Given the description of an element on the screen output the (x, y) to click on. 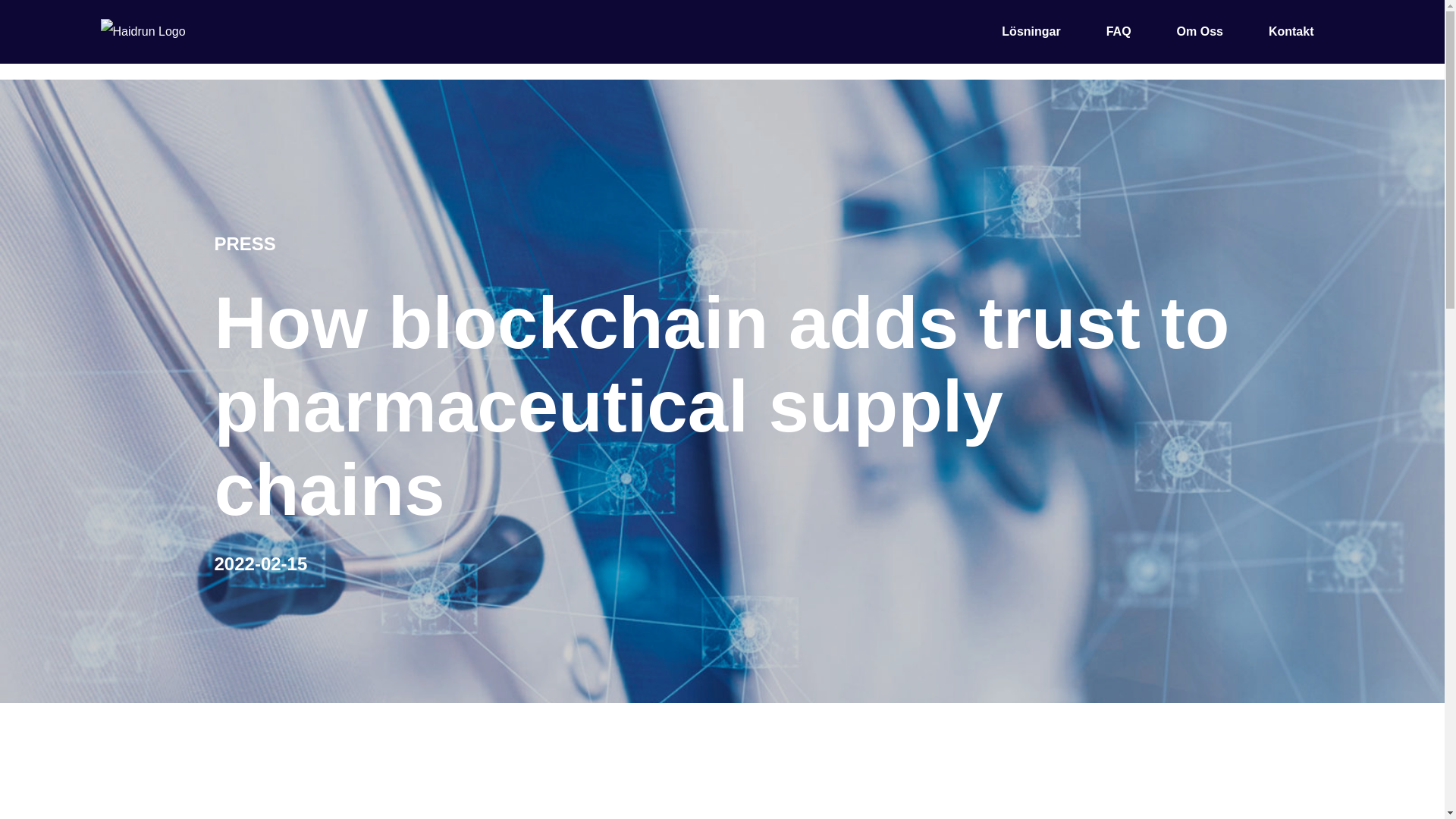
Om Oss (1200, 31)
Kontakt (1291, 31)
FAQ (1118, 31)
